Given the description of an element on the screen output the (x, y) to click on. 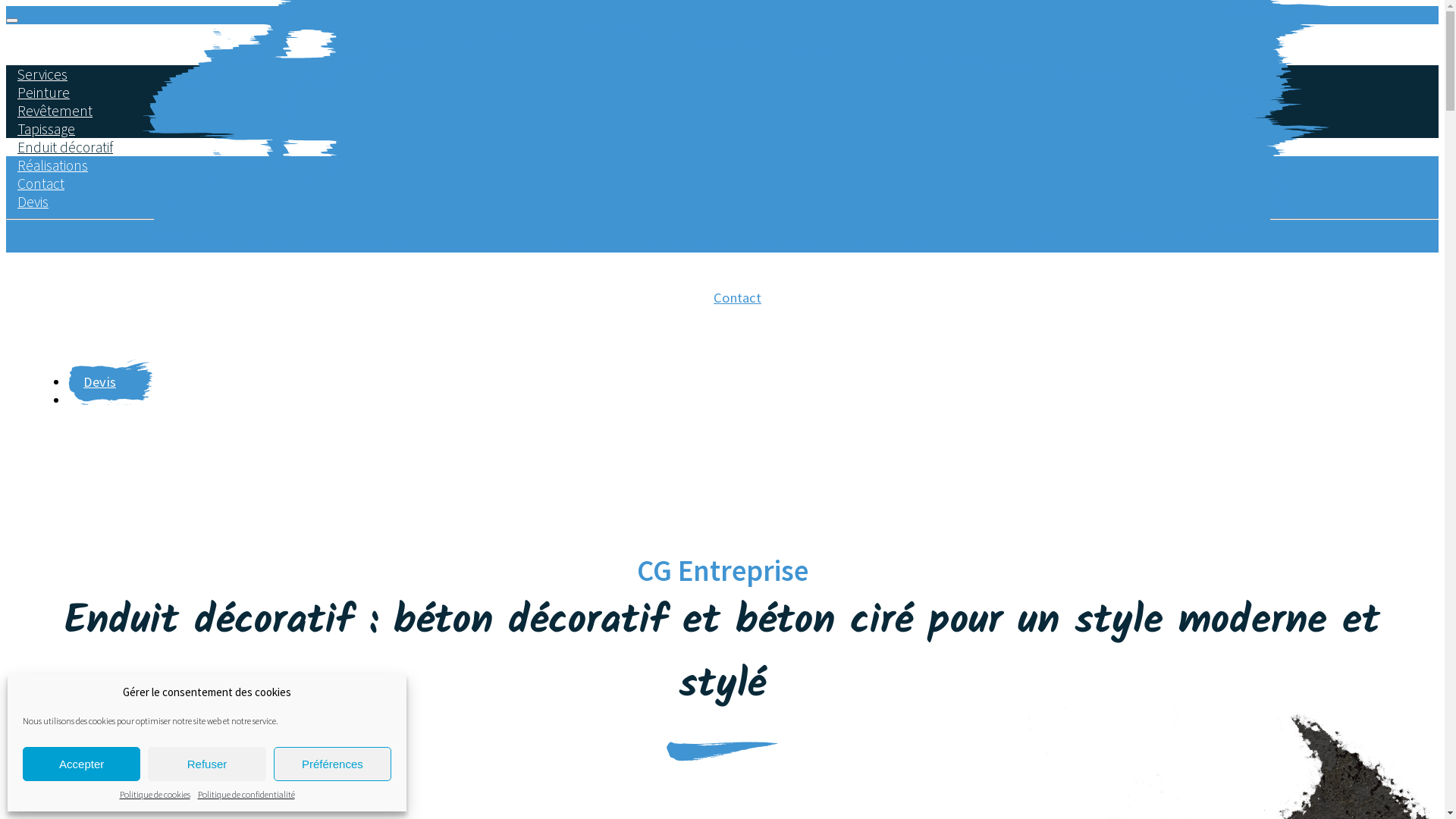
Services Element type: text (42, 73)
Accepter Element type: text (81, 763)
Facebook Element type: hover (42, 243)
Devis Element type: text (110, 381)
Peinture Element type: text (43, 92)
Contact Element type: text (737, 303)
Peinture Element type: text (762, 64)
Services Element type: text (657, 91)
Politique de cookies Element type: text (154, 794)
Contact Element type: text (40, 183)
Refuser Element type: text (206, 763)
Tapissage Element type: text (766, 101)
Tapissage Element type: text (46, 128)
Devis Element type: text (32, 201)
